Given the description of an element on the screen output the (x, y) to click on. 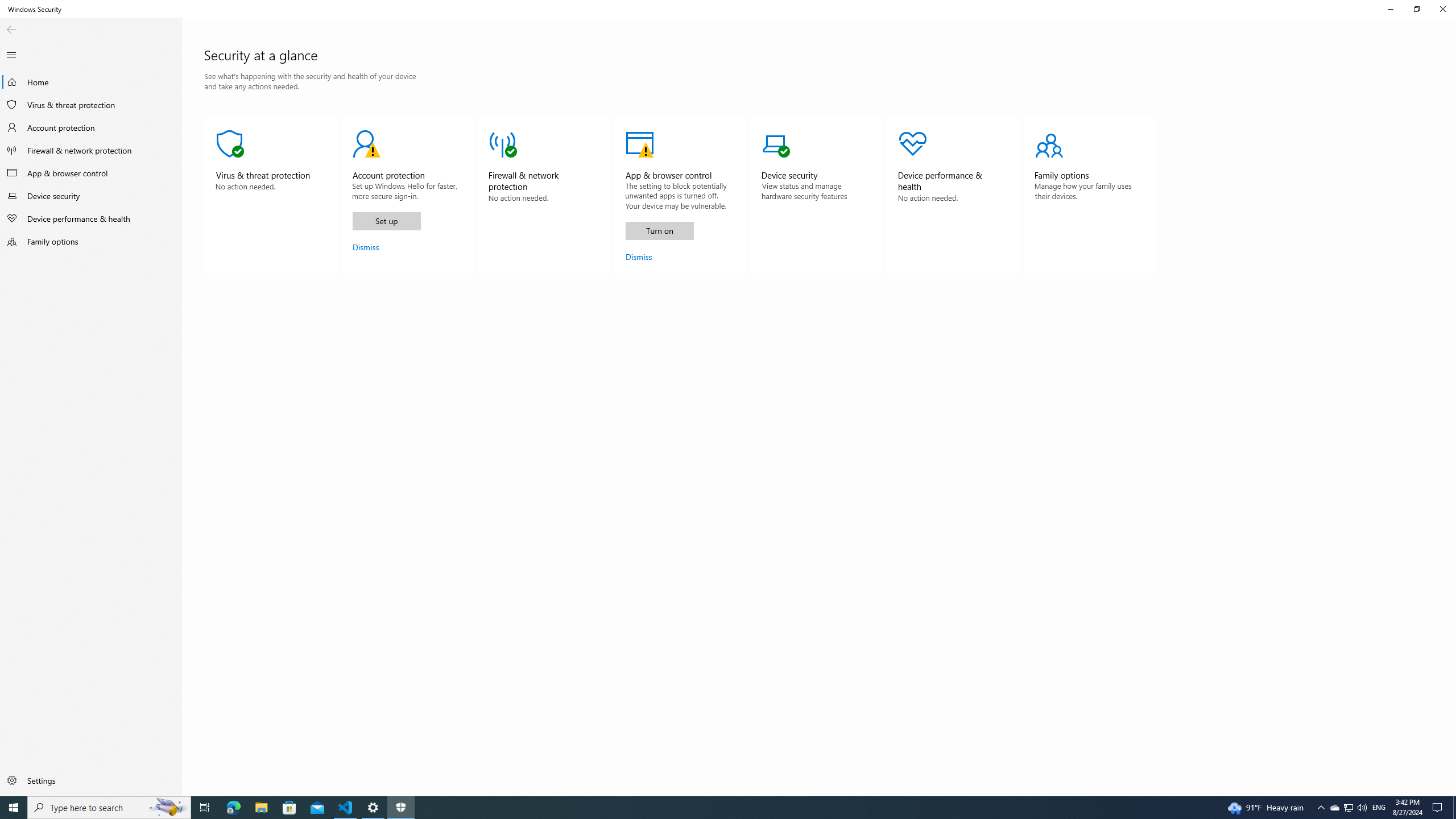
Search highlights icon opens search home window (167, 807)
Device performance & health (91, 218)
App & browser control (91, 172)
Account protection (91, 127)
Tray Input Indicator - English (United States) (1378, 807)
Show desktop (1454, 807)
Notification Chevron (1347, 807)
Microsoft Store (1320, 807)
Minimize Windows Security (289, 807)
Firewall & network protection (1390, 9)
Account protectionAction Recommended. (91, 149)
Microsoft Edge (406, 195)
Home (233, 807)
Action Center, No new notifications (91, 81)
